Given the description of an element on the screen output the (x, y) to click on. 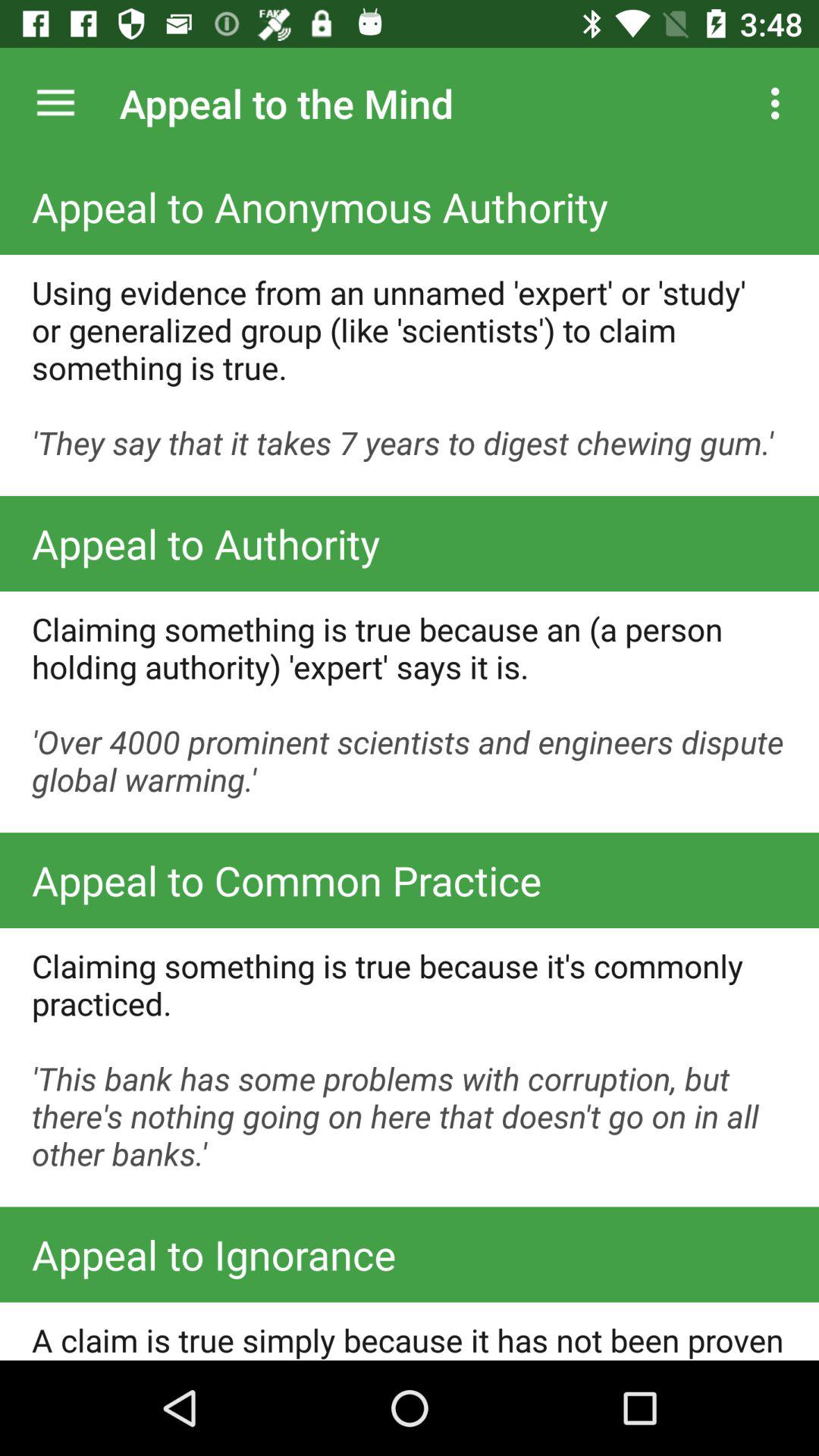
open the icon above appeal to anonymous icon (55, 103)
